Given the description of an element on the screen output the (x, y) to click on. 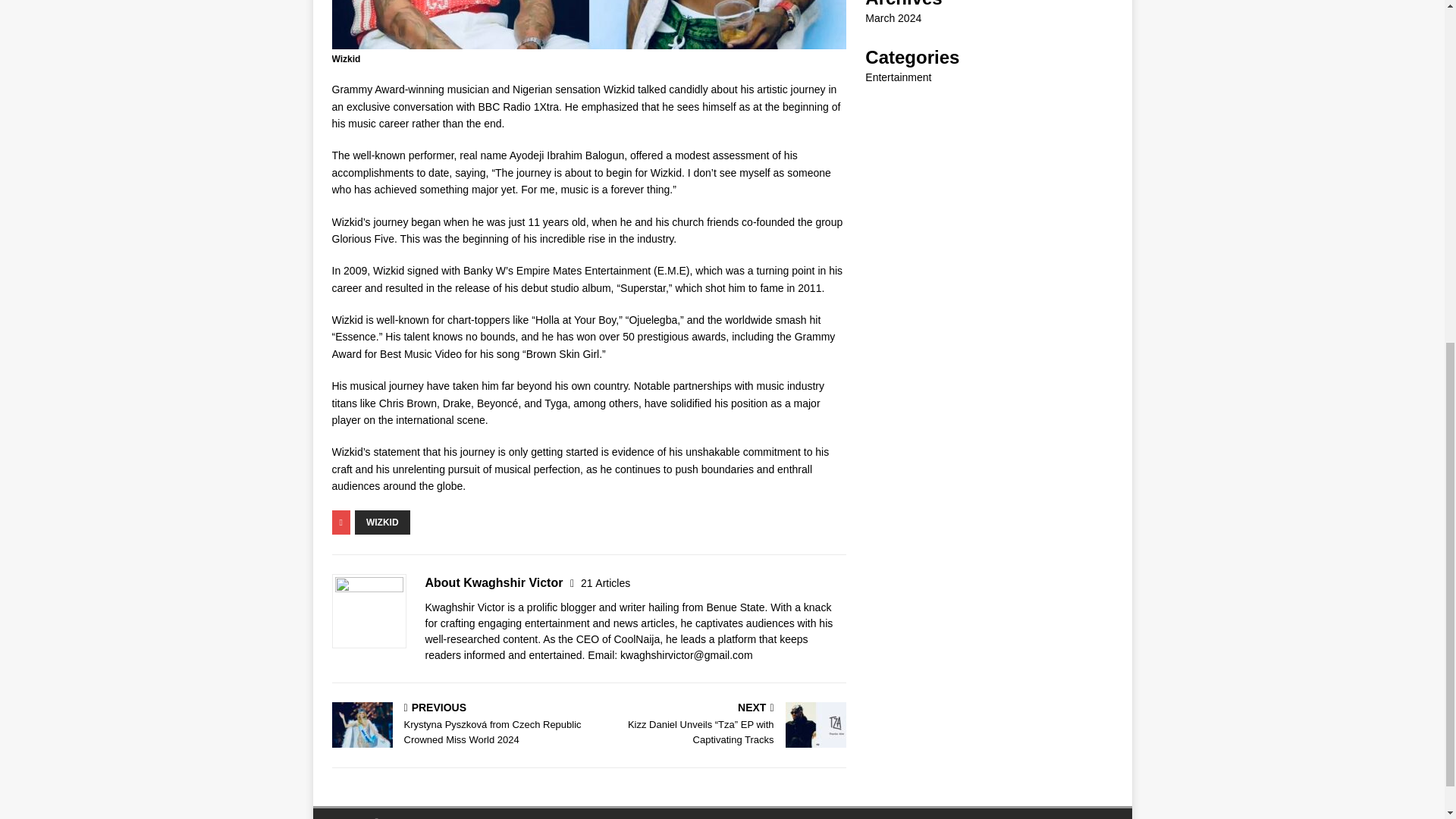
WIZKID (382, 522)
March 2024 (892, 18)
More articles written by Kwaghshir Victor' (605, 582)
21 Articles (605, 582)
Entertainment (897, 77)
Wizkid Said His Musical Journey is Just Starting (588, 24)
